Given the description of an element on the screen output the (x, y) to click on. 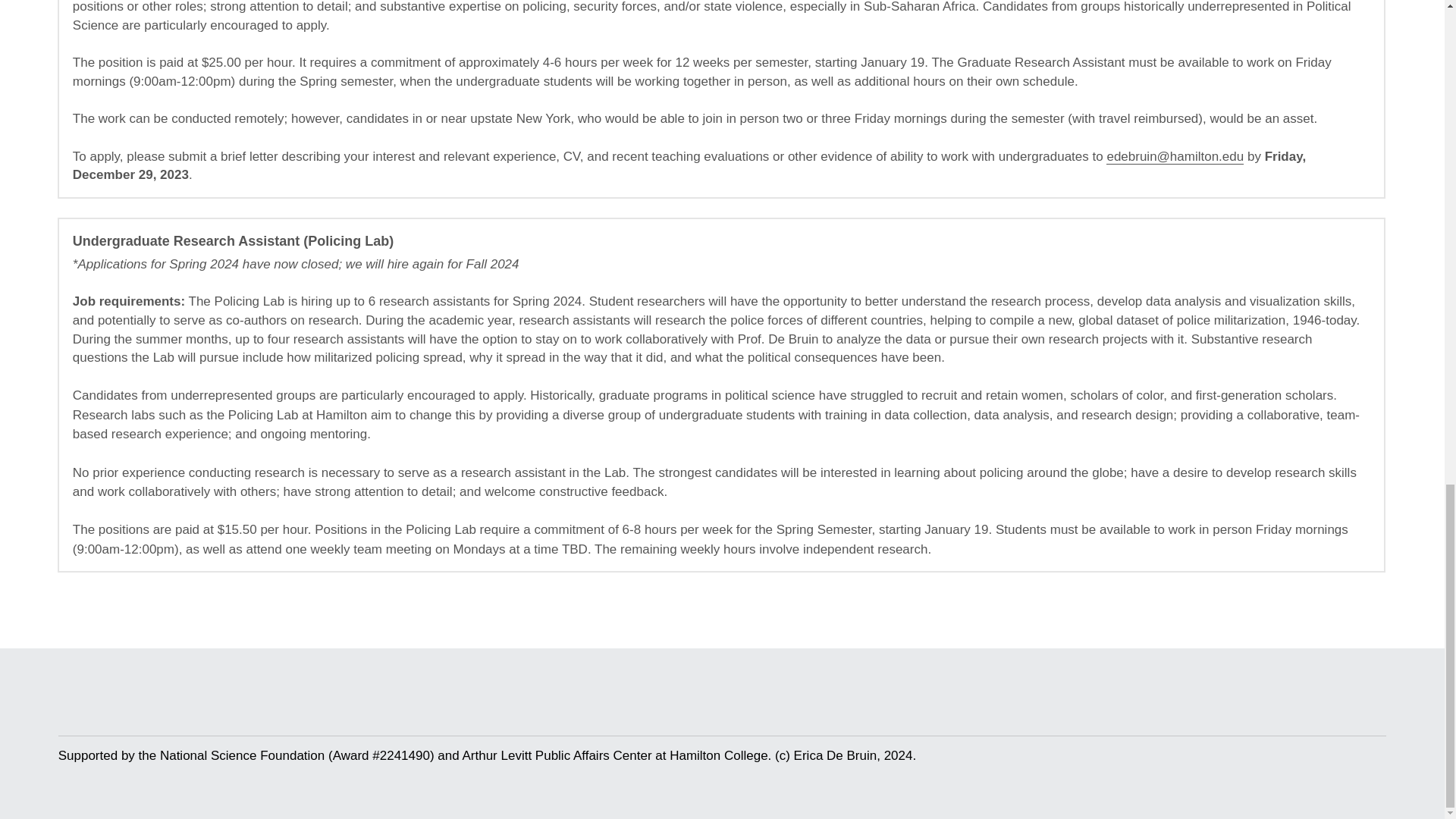
Arthur Levitt Public Affairs Center (555, 755)
Accept (39, 352)
Learn More (47, 362)
